Given the description of an element on the screen output the (x, y) to click on. 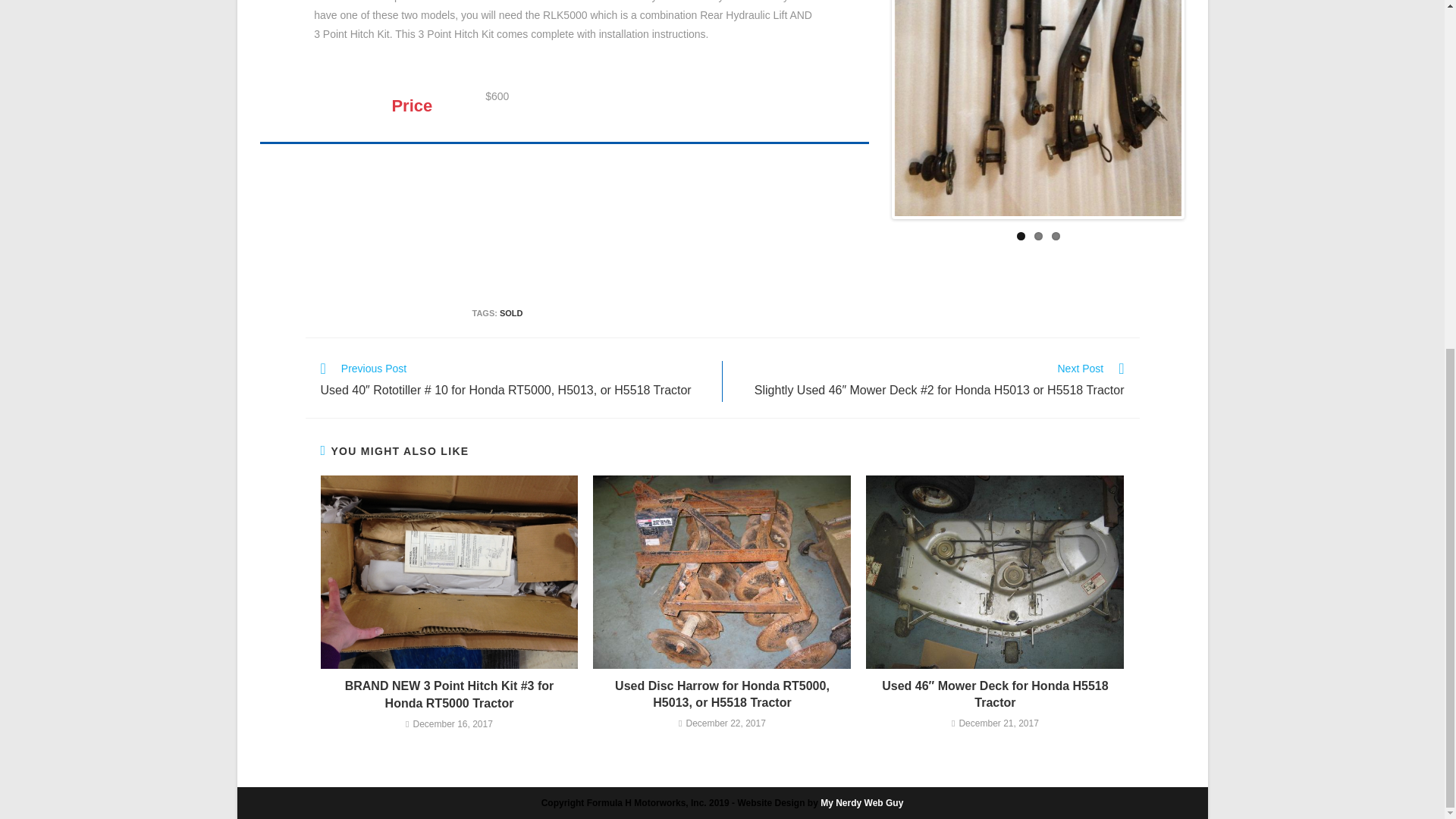
Used Disc Harrow for Honda RT5000, H5013, or H5518 Tractor (721, 694)
